Given the description of an element on the screen output the (x, y) to click on. 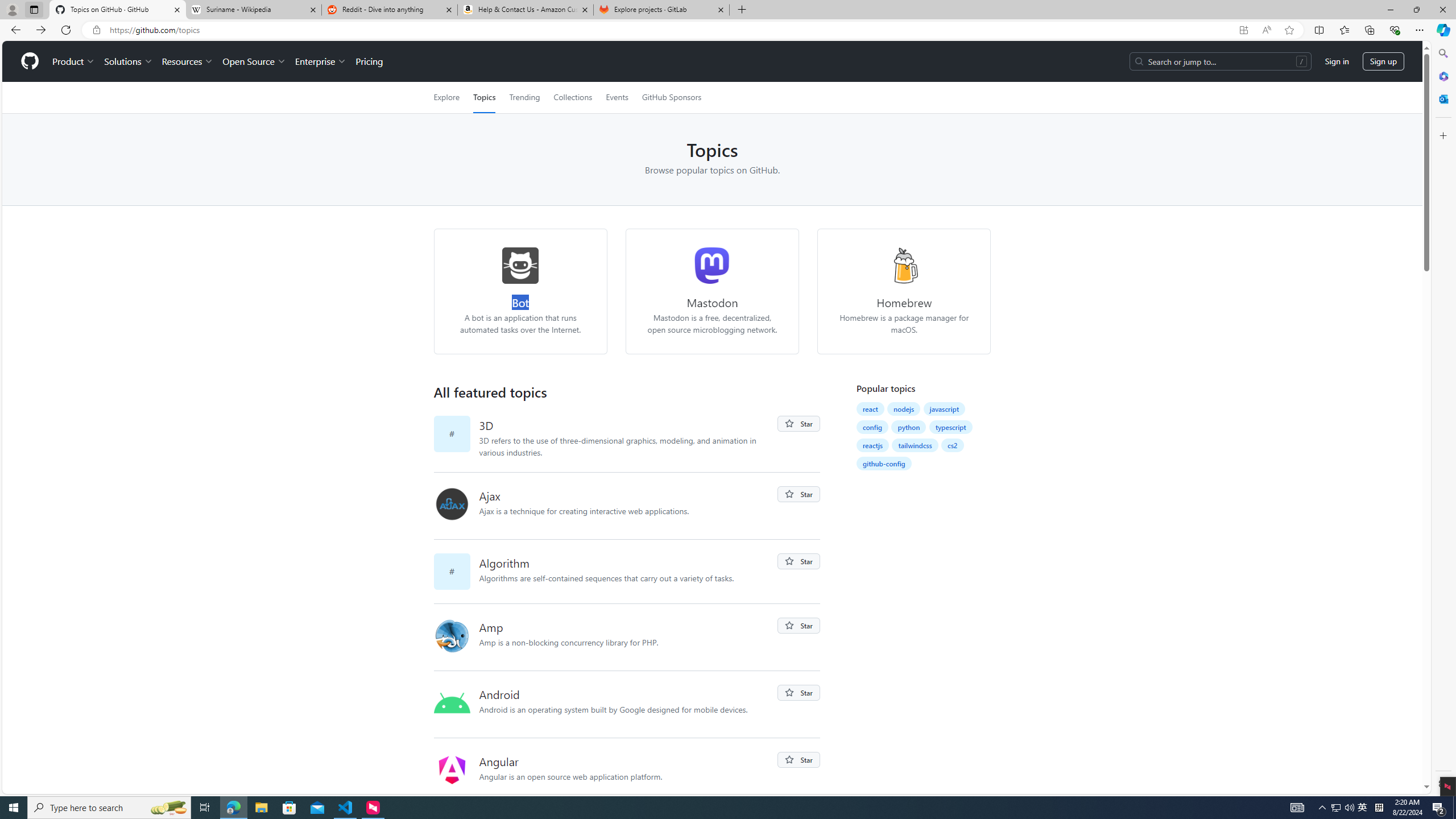
Product (74, 60)
Close Outlook pane (1442, 98)
android (456, 703)
javascript (944, 408)
Enterprise (319, 60)
reactjs (872, 445)
reactjs (872, 445)
typescript (951, 426)
mastodon (712, 265)
Forward (40, 29)
nodejs (903, 408)
Resources (187, 60)
Events (616, 97)
